Given the description of an element on the screen output the (x, y) to click on. 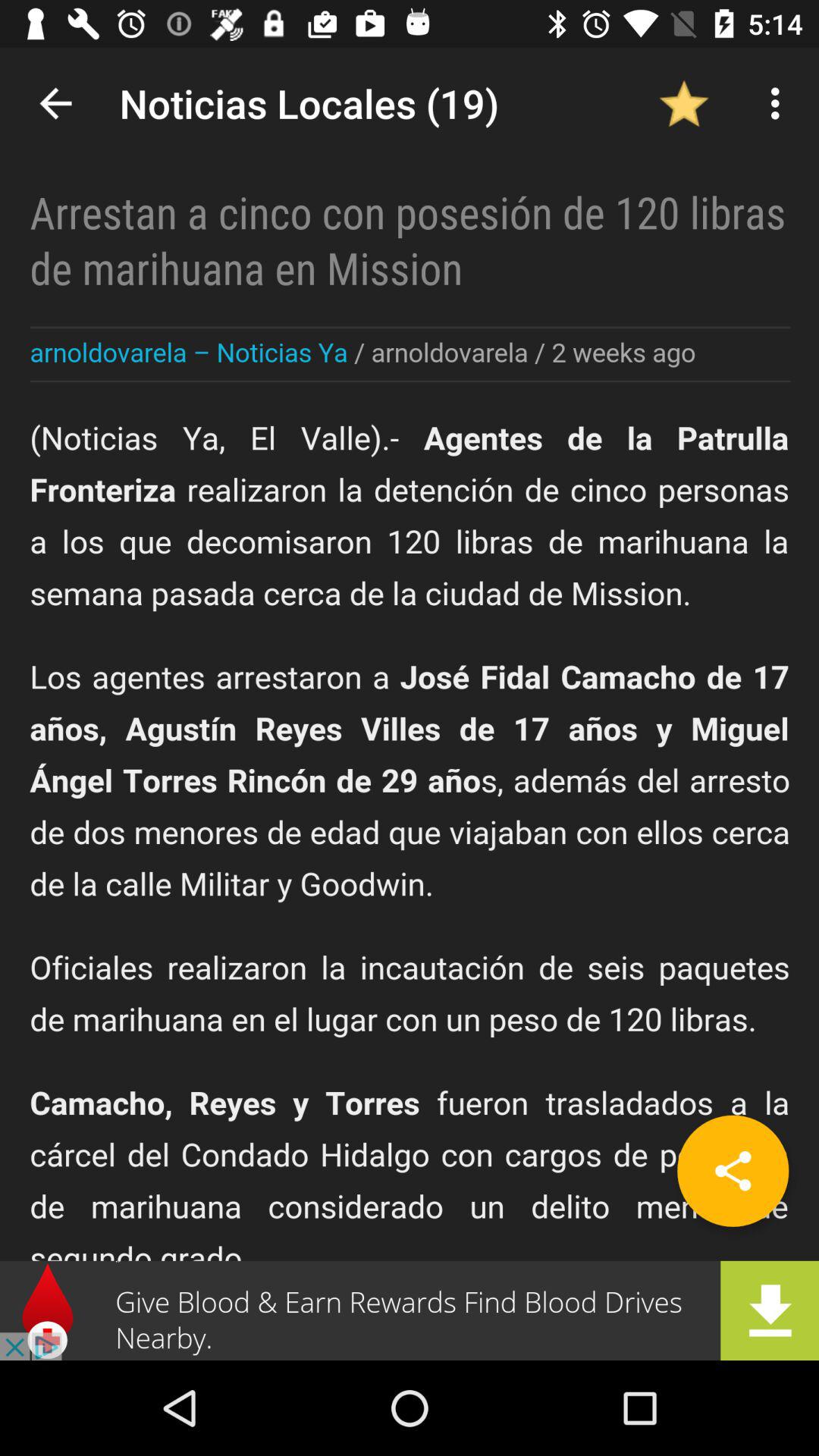
share the article (733, 1171)
